Given the description of an element on the screen output the (x, y) to click on. 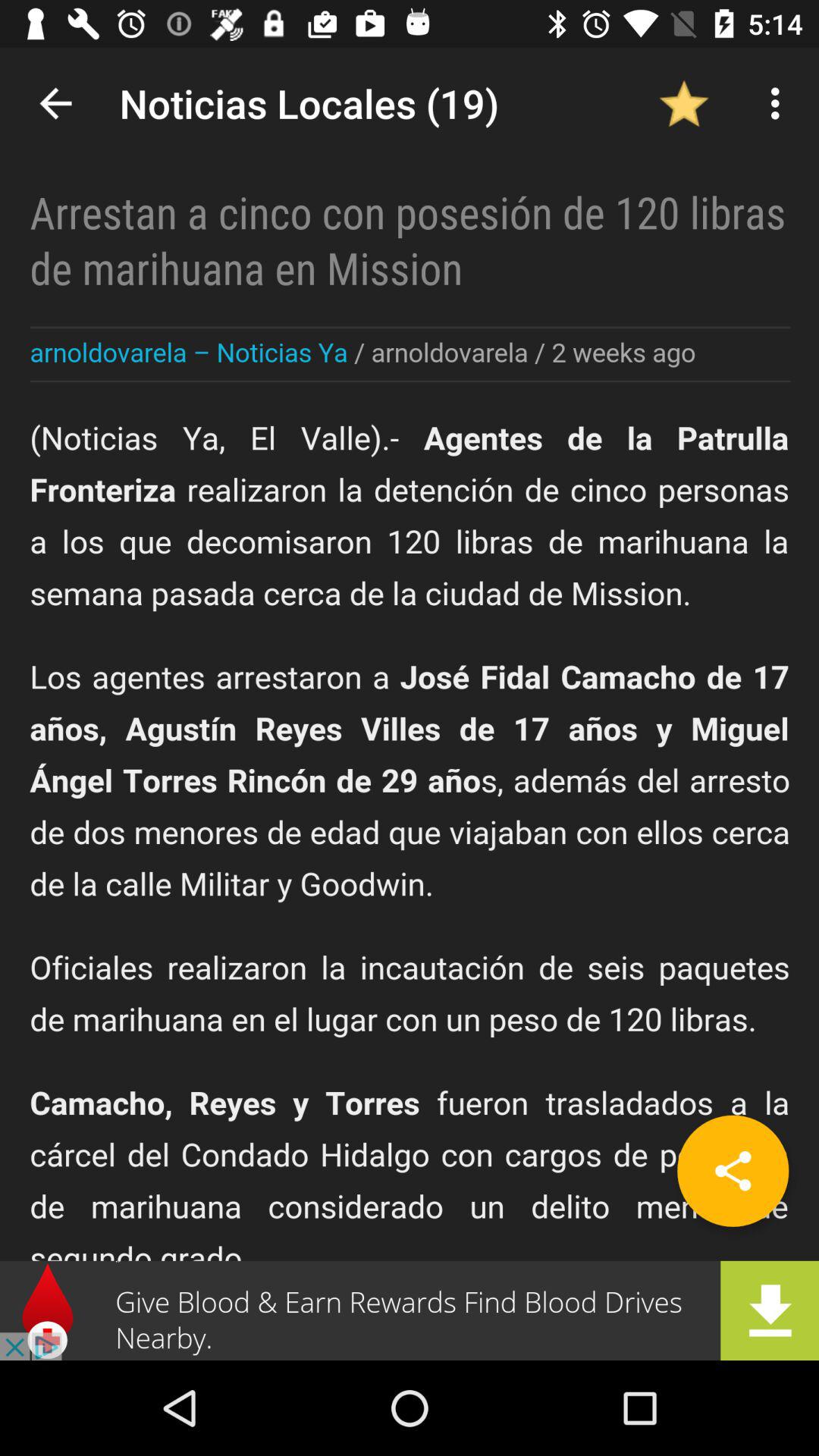
share the article (733, 1171)
